Given the description of an element on the screen output the (x, y) to click on. 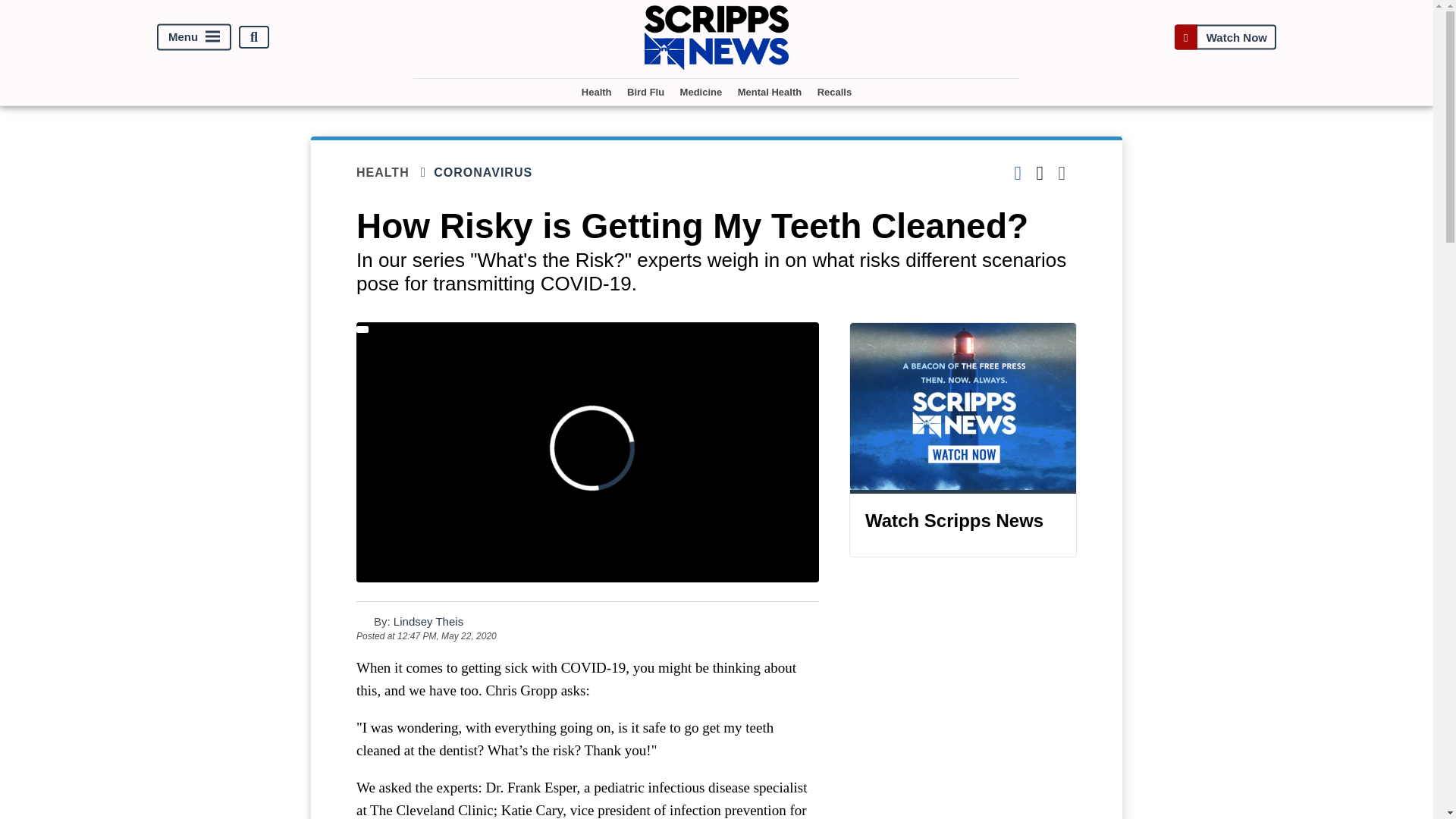
Menu (194, 37)
Watch Now (1224, 37)
